Given the description of an element on the screen output the (x, y) to click on. 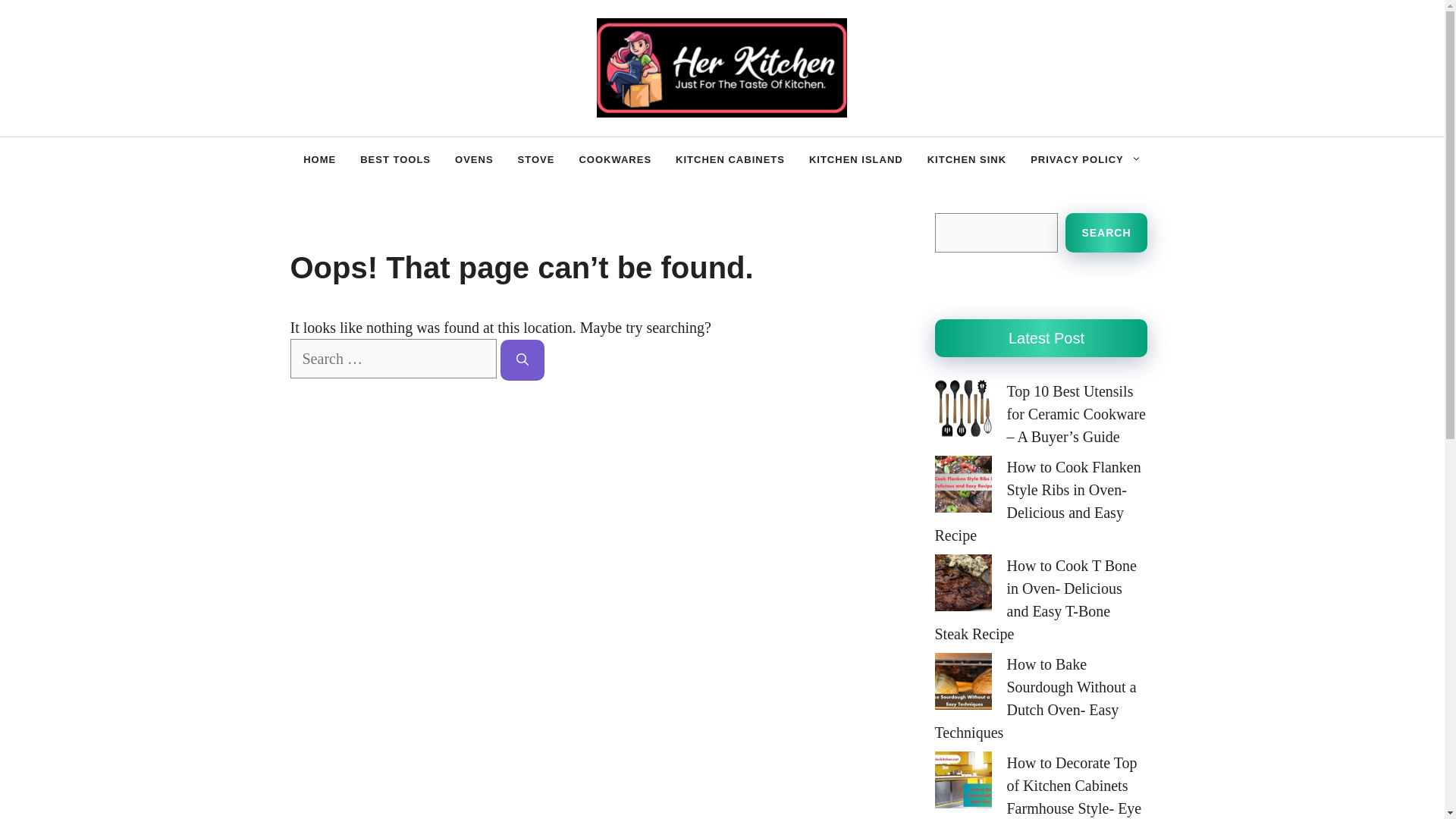
OVENS (473, 159)
KITCHEN SINK (966, 159)
PRIVACY POLICY (1085, 159)
SEARCH (1106, 232)
KITCHEN ISLAND (855, 159)
Search for: (392, 358)
BEST TOOLS (394, 159)
COOKWARES (614, 159)
